Given the description of an element on the screen output the (x, y) to click on. 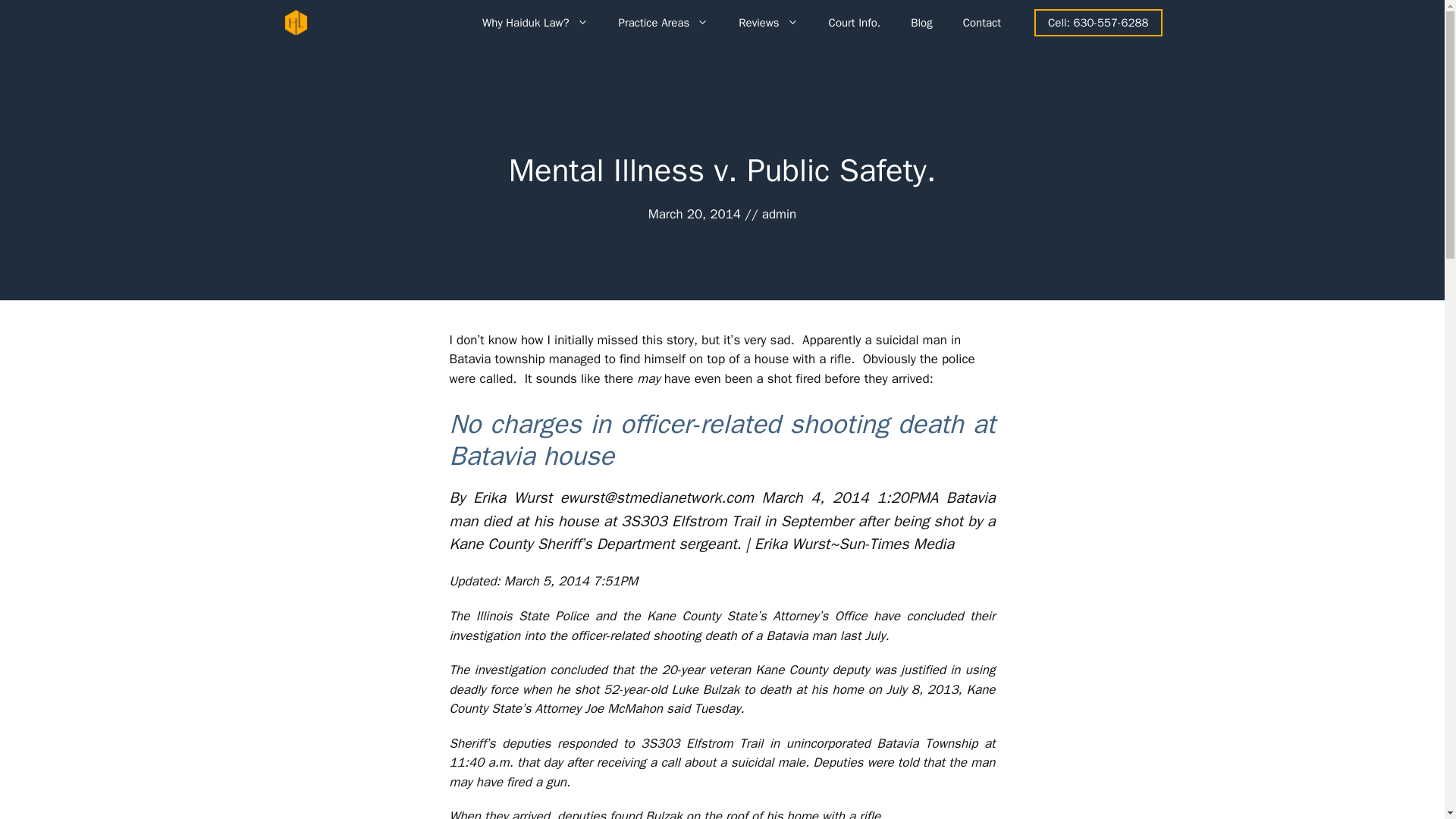
Contact (981, 22)
Cell: 630-557-6288 (1097, 22)
Practice Areas (663, 22)
Why Haiduk Law? (534, 22)
admin (778, 213)
Blog (921, 22)
Reviews (767, 22)
Court Info. (854, 22)
